Given the description of an element on the screen output the (x, y) to click on. 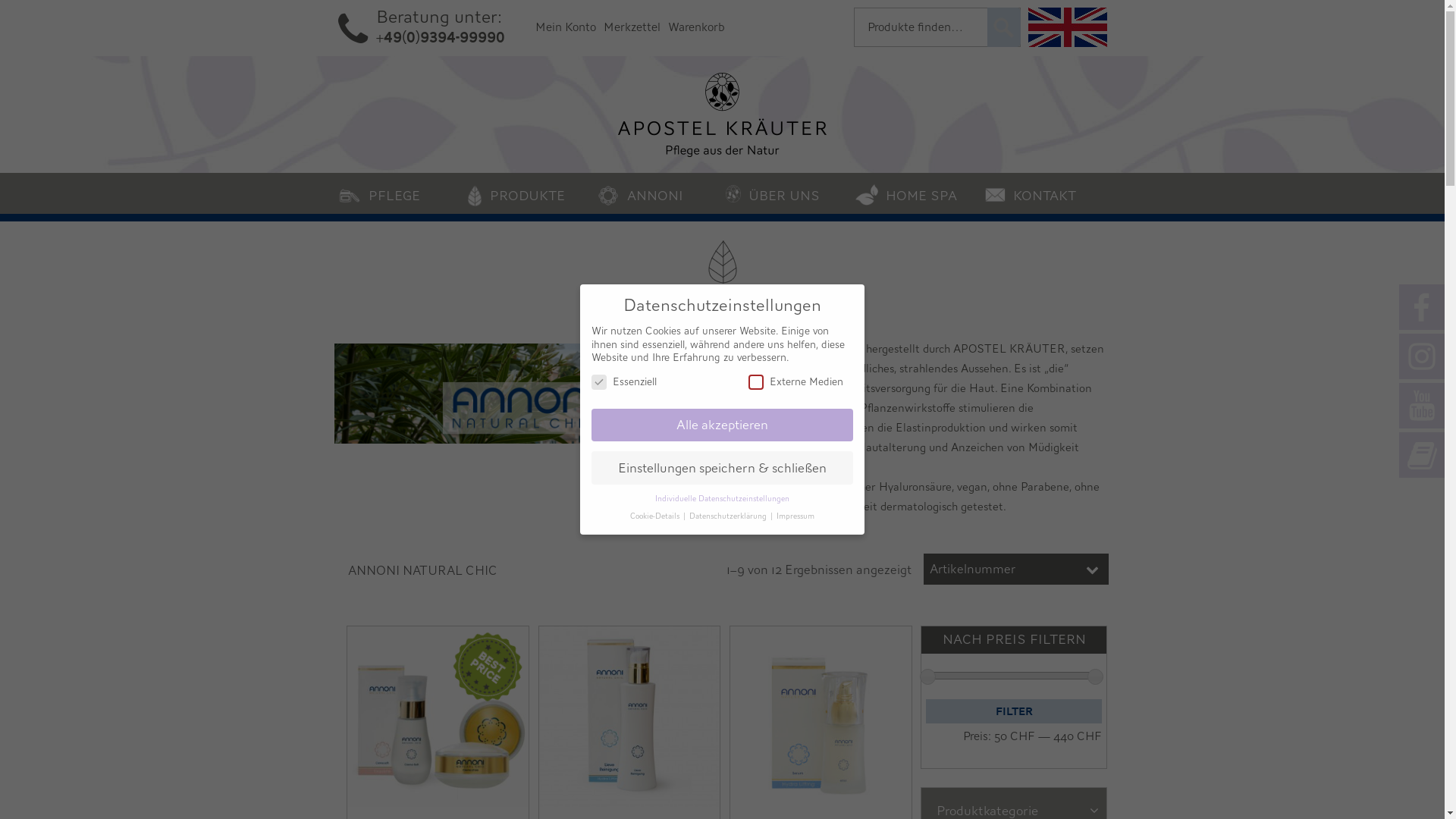
Merkzettel Element type: text (631, 27)
Youtube Element type: hover (1421, 405)
Mein Konto Element type: text (565, 27)
HOME SPA Element type: text (916, 192)
Cookie-Details Element type: text (655, 515)
KONTAKT Element type: text (1045, 192)
PRODUKTE Element type: text (528, 192)
Alle akzeptieren Element type: text (722, 425)
Facebook Element type: hover (1421, 306)
ANNONI Element type: text (657, 192)
Filter Element type: text (1013, 711)
English site informations Element type: hover (1067, 27)
Senden Element type: text (1003, 27)
Instagram Element type: hover (1421, 356)
+49(0)9394-99990 Element type: text (440, 37)
PFLEGE Element type: text (398, 192)
Katalog anfordern Element type: hover (1421, 454)
Impressum Element type: text (795, 515)
Springe zum Inhalt Element type: text (58, 187)
Individuelle Datenschutzeinstellungen Element type: text (722, 498)
Warenkorb Element type: text (695, 27)
